Given the description of an element on the screen output the (x, y) to click on. 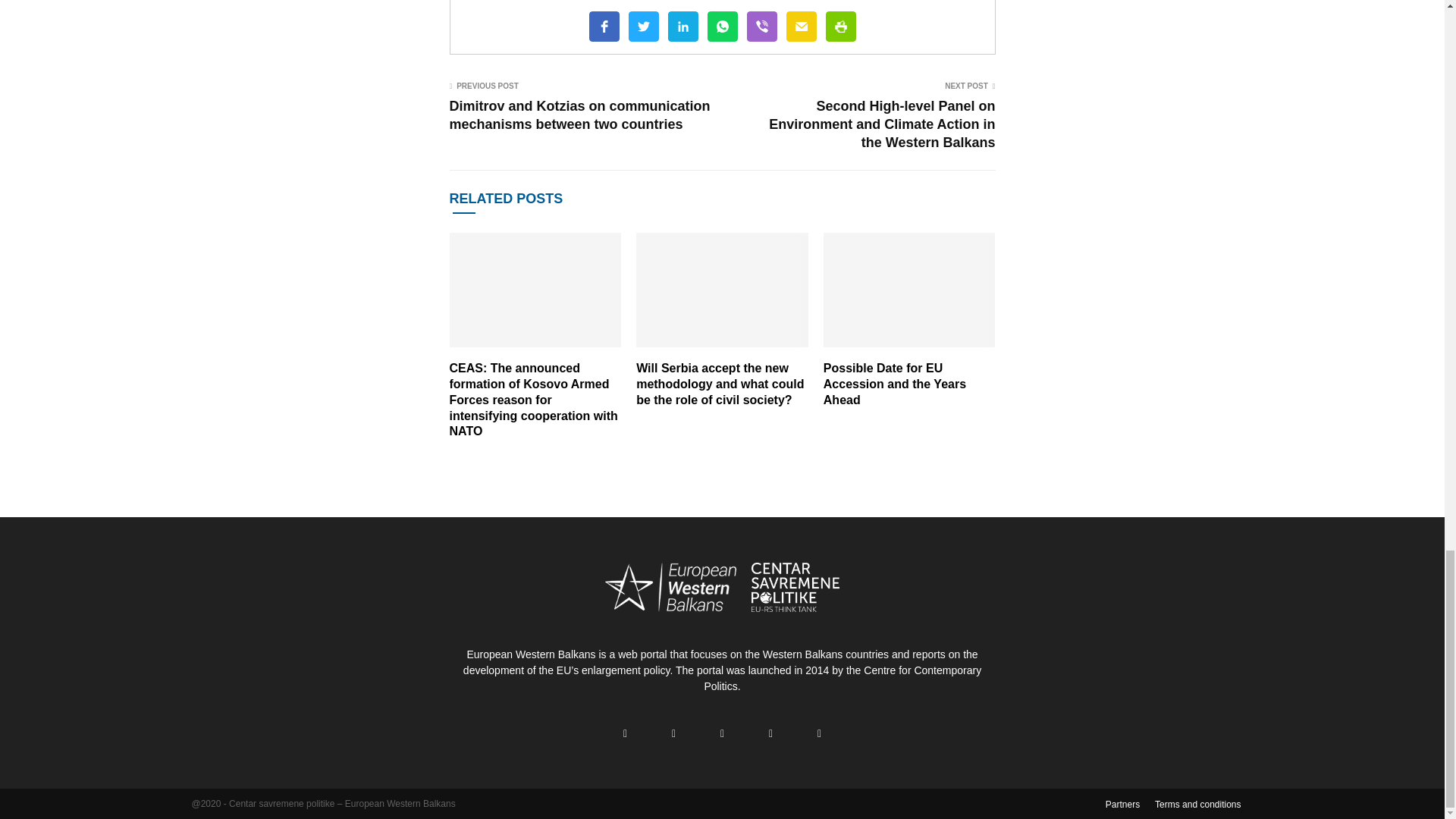
WhatsApp (721, 26)
LinkedIn (681, 26)
Facebook (603, 26)
Email (800, 26)
Viber (760, 26)
Twitter (642, 26)
Print (840, 26)
